Given the description of an element on the screen output the (x, y) to click on. 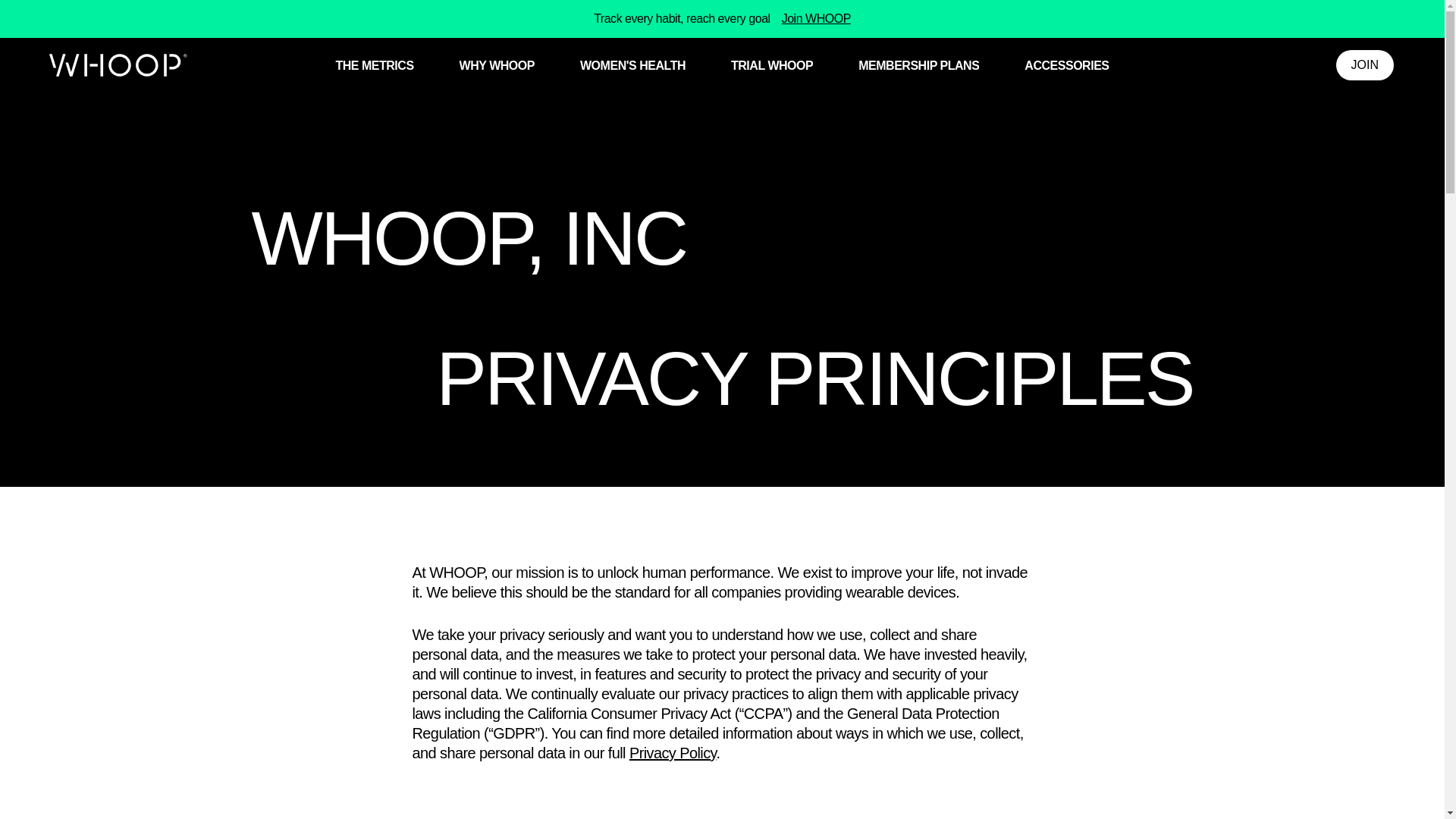
Privacy Policy (672, 752)
Skip to content (3, 3)
WHY WHOOP (497, 66)
Join WHOOP (815, 19)
JOIN (1364, 64)
WOMEN'S HEALTH (632, 66)
MEMBERSHIP PLANS (918, 66)
THE METRICS (373, 66)
ACCESSORIES (1066, 66)
TRIAL WHOOP (771, 66)
